Given the description of an element on the screen output the (x, y) to click on. 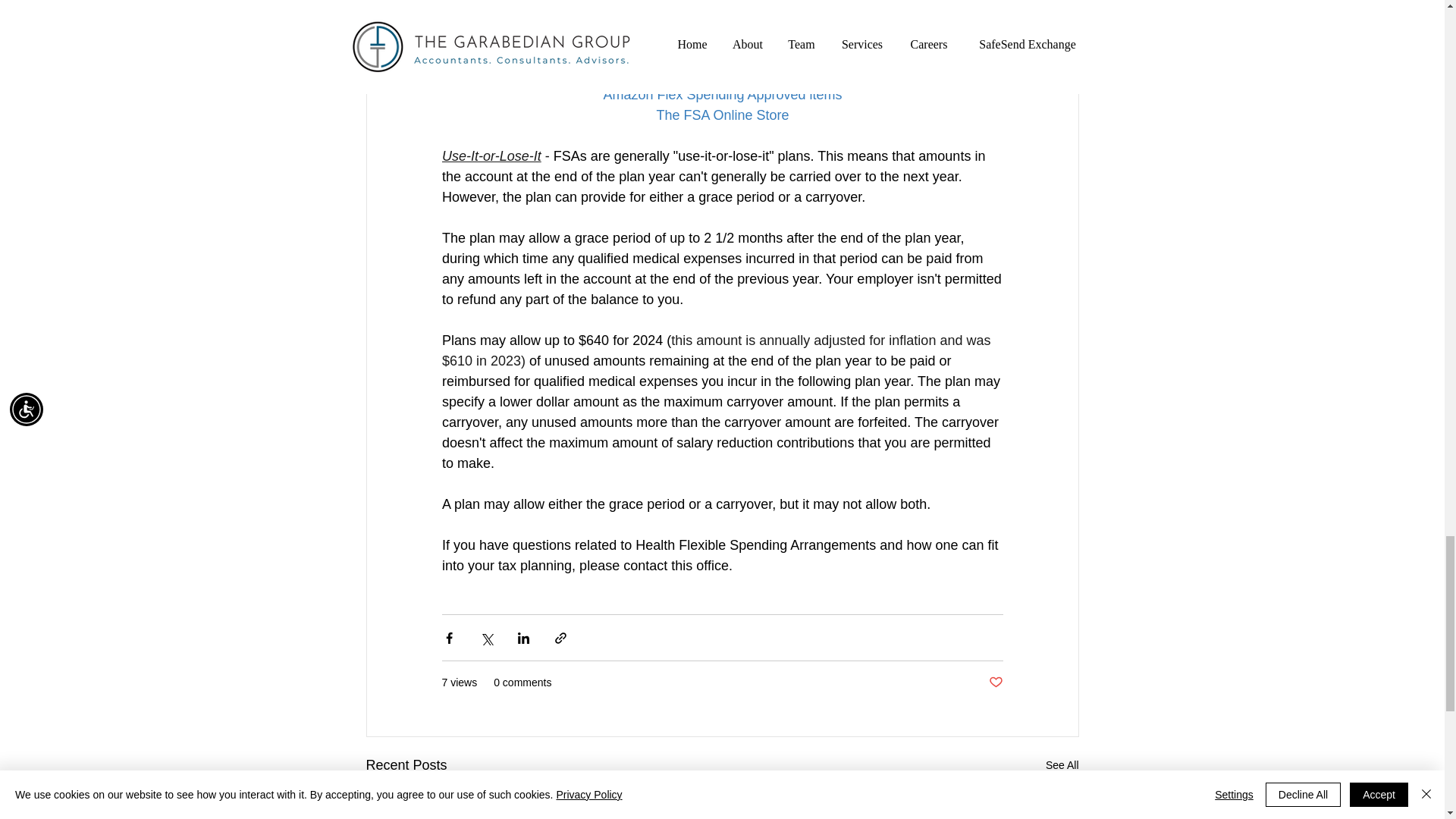
Amazon Flex Spending Approved items (721, 94)
Post not marked as liked (995, 682)
click here (796, 12)
The FSA Online Store (722, 114)
